Given the description of an element on the screen output the (x, y) to click on. 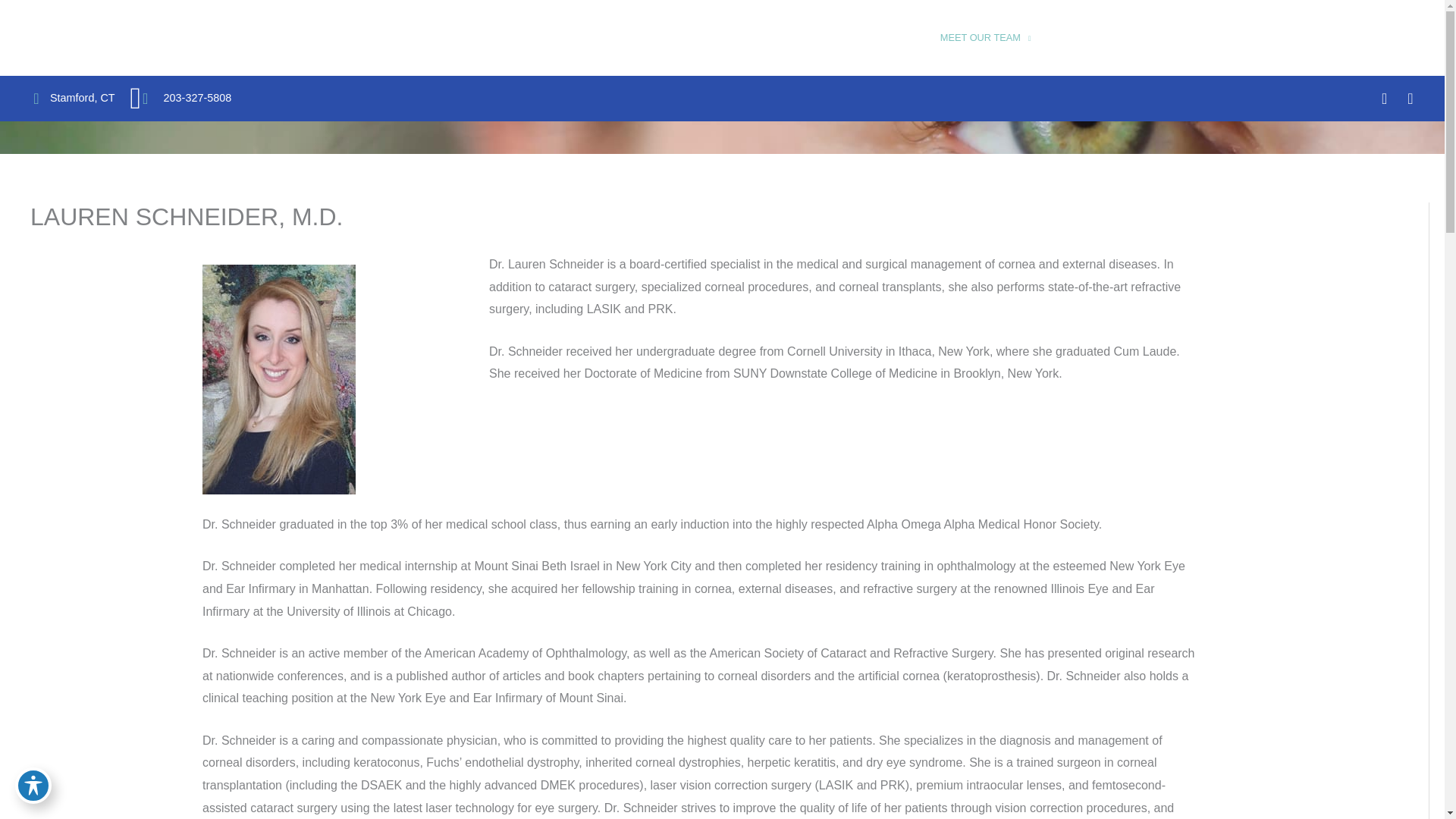
ABOUT (903, 38)
203-327-5808 (181, 98)
Stamford, CT (82, 97)
MEET OUR TEAM (985, 38)
CONTACT US (1383, 38)
OPTICAL (1173, 38)
OUR SERVICES (1091, 38)
27133530eab0bcd7abb1edc47702994c (278, 379)
PATIENT RESOURCES (1271, 38)
